Given the description of an element on the screen output the (x, y) to click on. 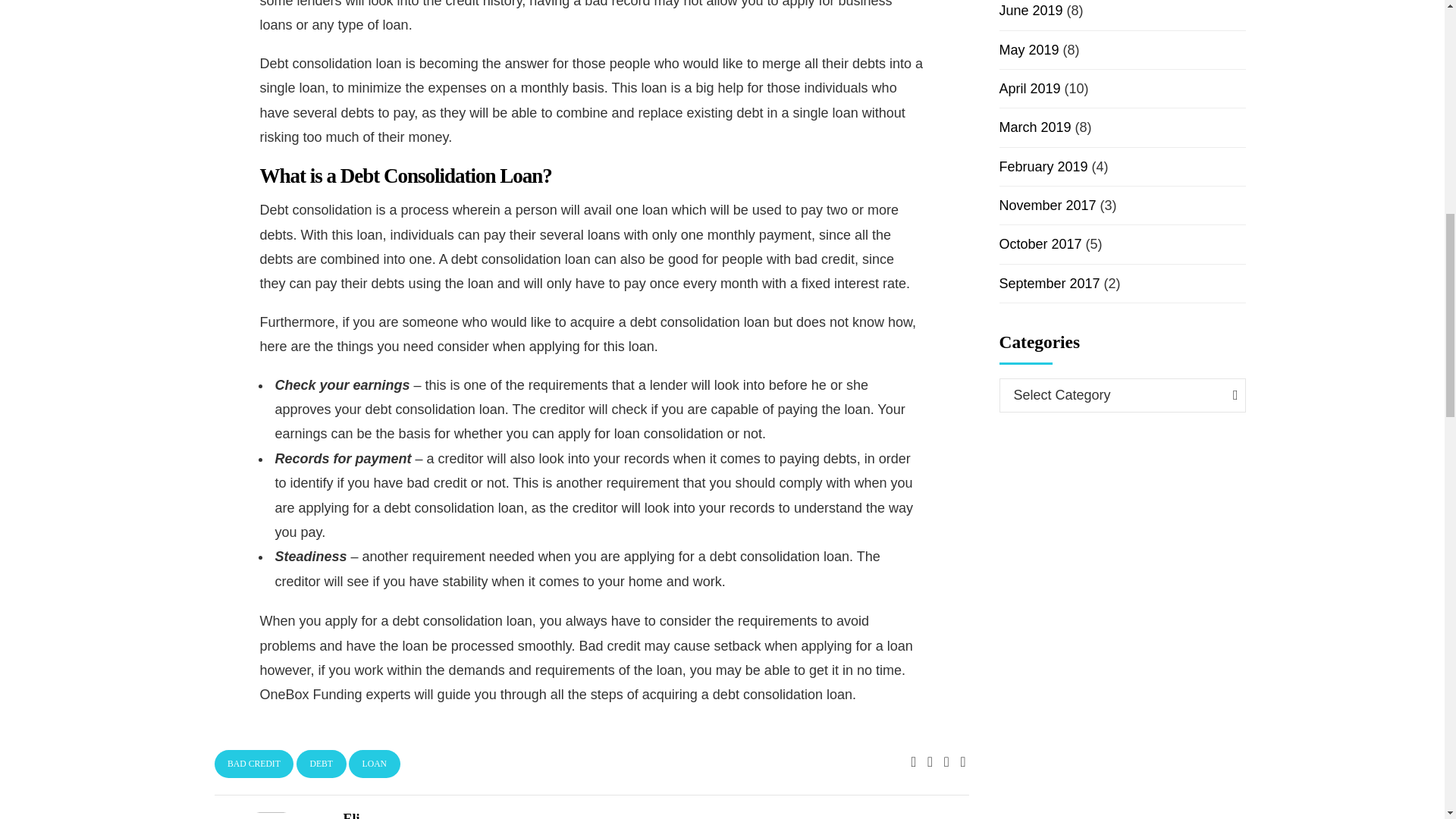
BAD CREDIT (254, 764)
LOAN (374, 764)
DEBT (321, 764)
